Given the description of an element on the screen output the (x, y) to click on. 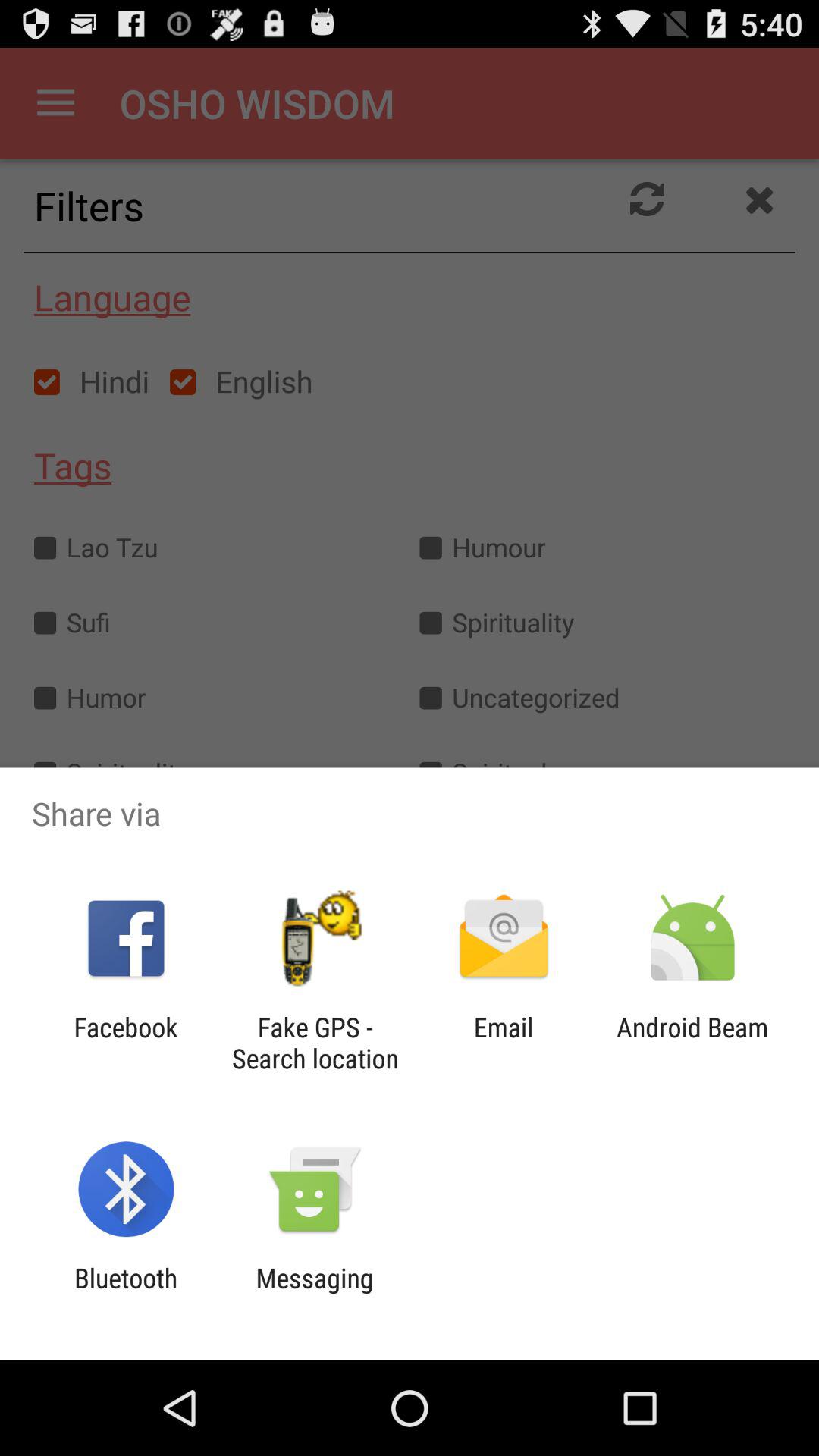
click the icon to the left of the email item (314, 1042)
